Given the description of an element on the screen output the (x, y) to click on. 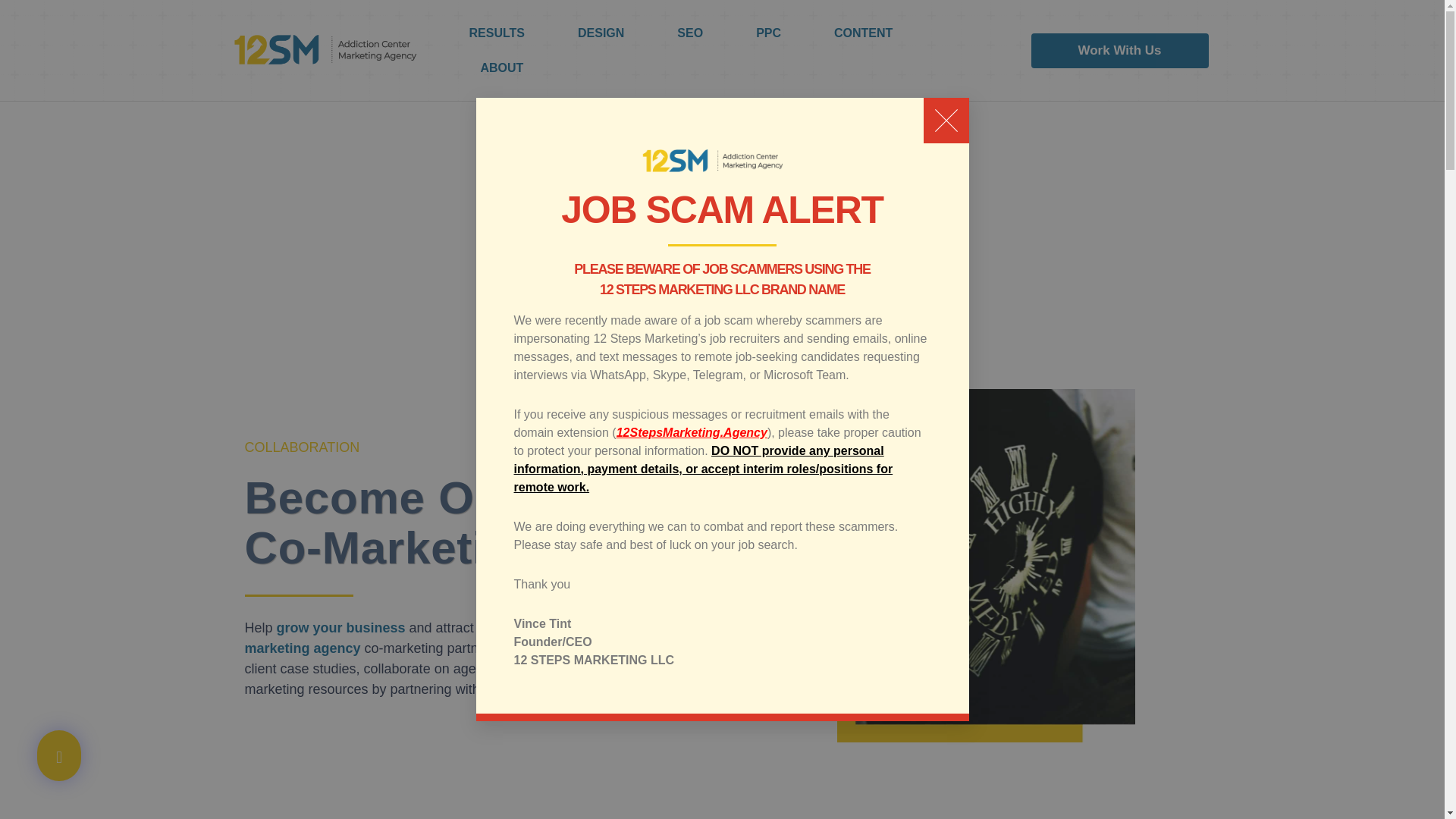
grow your business (341, 627)
DESIGN (600, 32)
SEO (689, 32)
digital marketing agency (485, 637)
RESULTS (495, 32)
PPC (768, 32)
ABOUT (501, 67)
Work With Us (1119, 50)
CONTENT (862, 32)
